Given the description of an element on the screen output the (x, y) to click on. 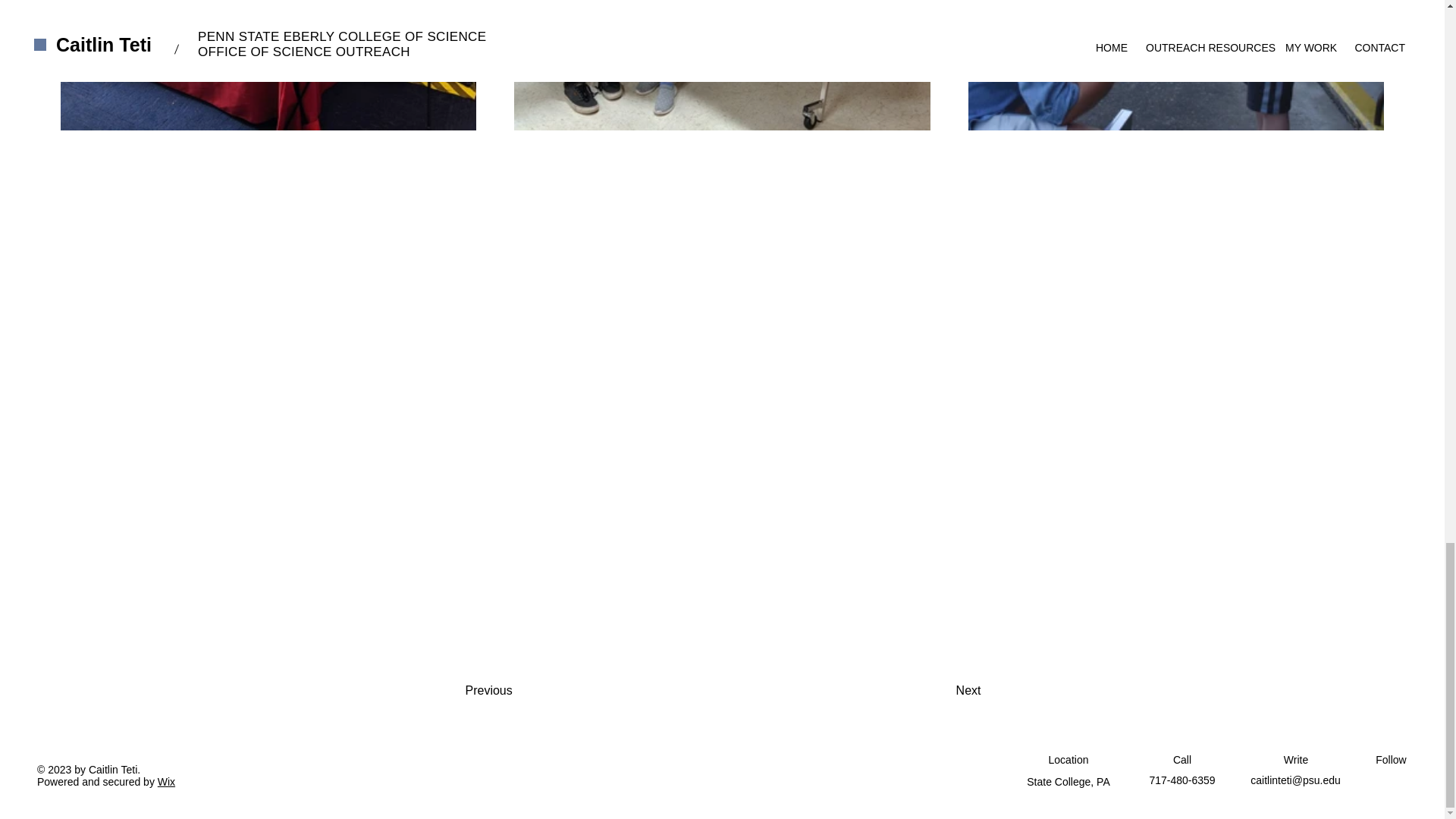
Wix (165, 781)
Previous (526, 690)
Next (928, 690)
